Given the description of an element on the screen output the (x, y) to click on. 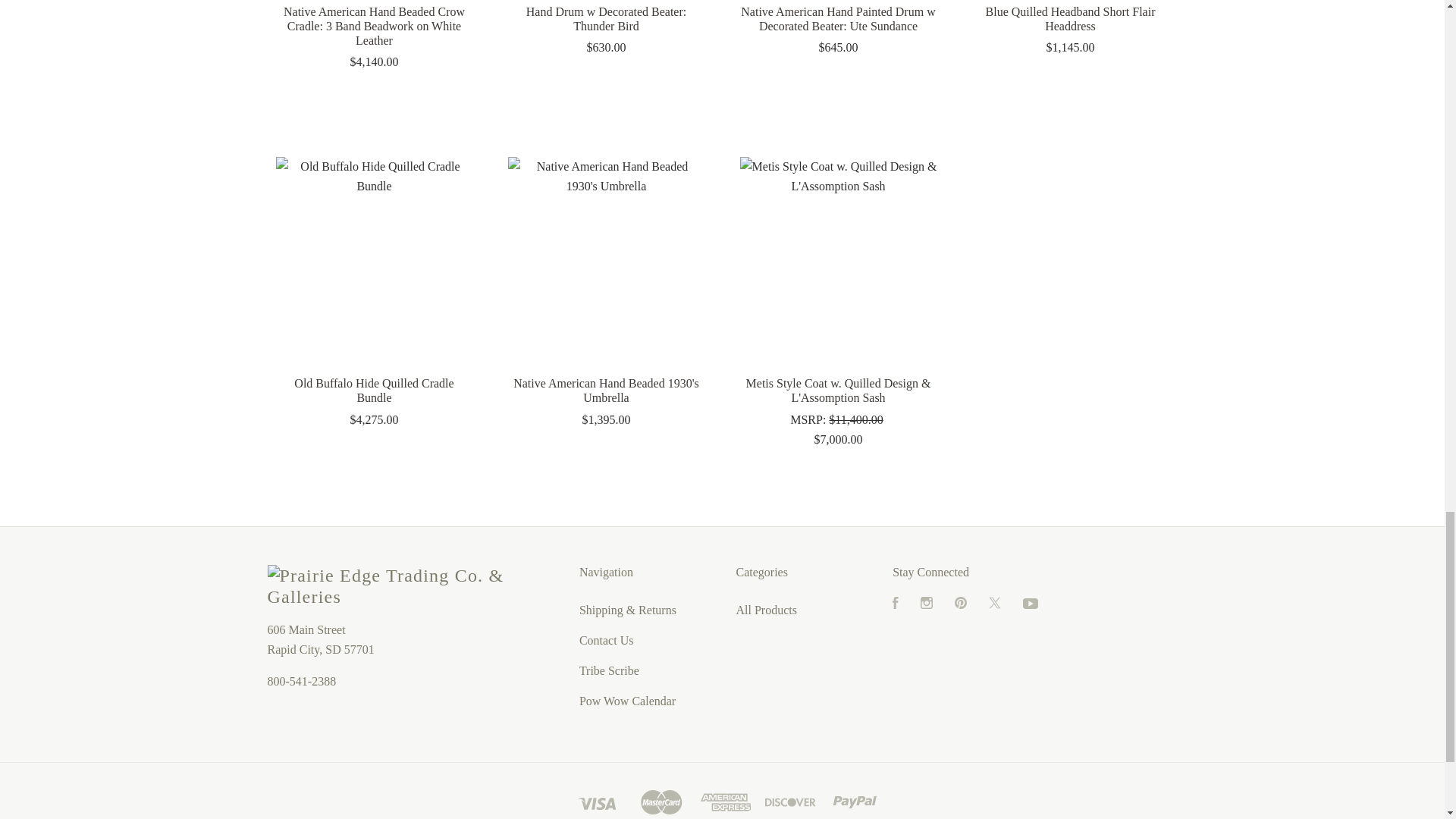
Facebook (895, 604)
Native American Hand Beaded 1930's Umbrella (606, 255)
Instagram (926, 604)
facebook (895, 603)
Twitter (994, 604)
pinterest (960, 603)
Pinterest (960, 604)
instagram (926, 603)
youtube (1030, 603)
Old Buffalo Hide Quilled Cradle Bundle (374, 255)
